Given the description of an element on the screen output the (x, y) to click on. 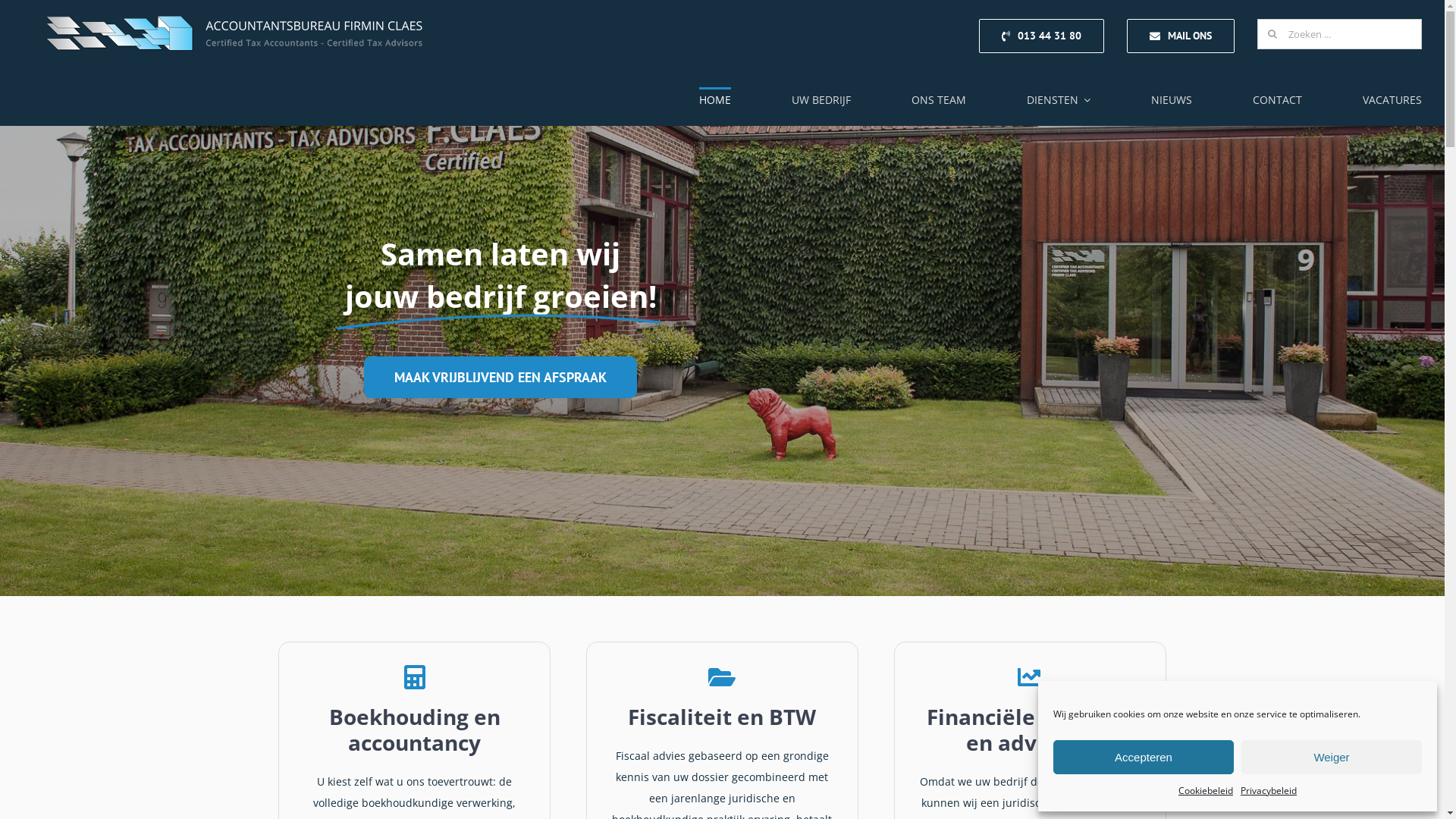
HOME Element type: text (715, 98)
DIENSTEN Element type: text (1058, 99)
Privacybeleid Element type: text (1268, 790)
VACATURES Element type: text (1391, 99)
MAIL ONS Element type: text (1180, 35)
013 44 31 80 Element type: text (1041, 35)
Cookiebeleid Element type: text (1205, 790)
ONS TEAM Element type: text (938, 99)
UW BEDRIJF Element type: text (820, 99)
NIEUWS Element type: text (1171, 99)
Accepteren Element type: text (1143, 757)
Weiger Element type: text (1331, 757)
MAAK VRIJBLIJVEND EEN AFSPRAAK Element type: text (500, 377)
CONTACT Element type: text (1277, 99)
